Given the description of an element on the screen output the (x, y) to click on. 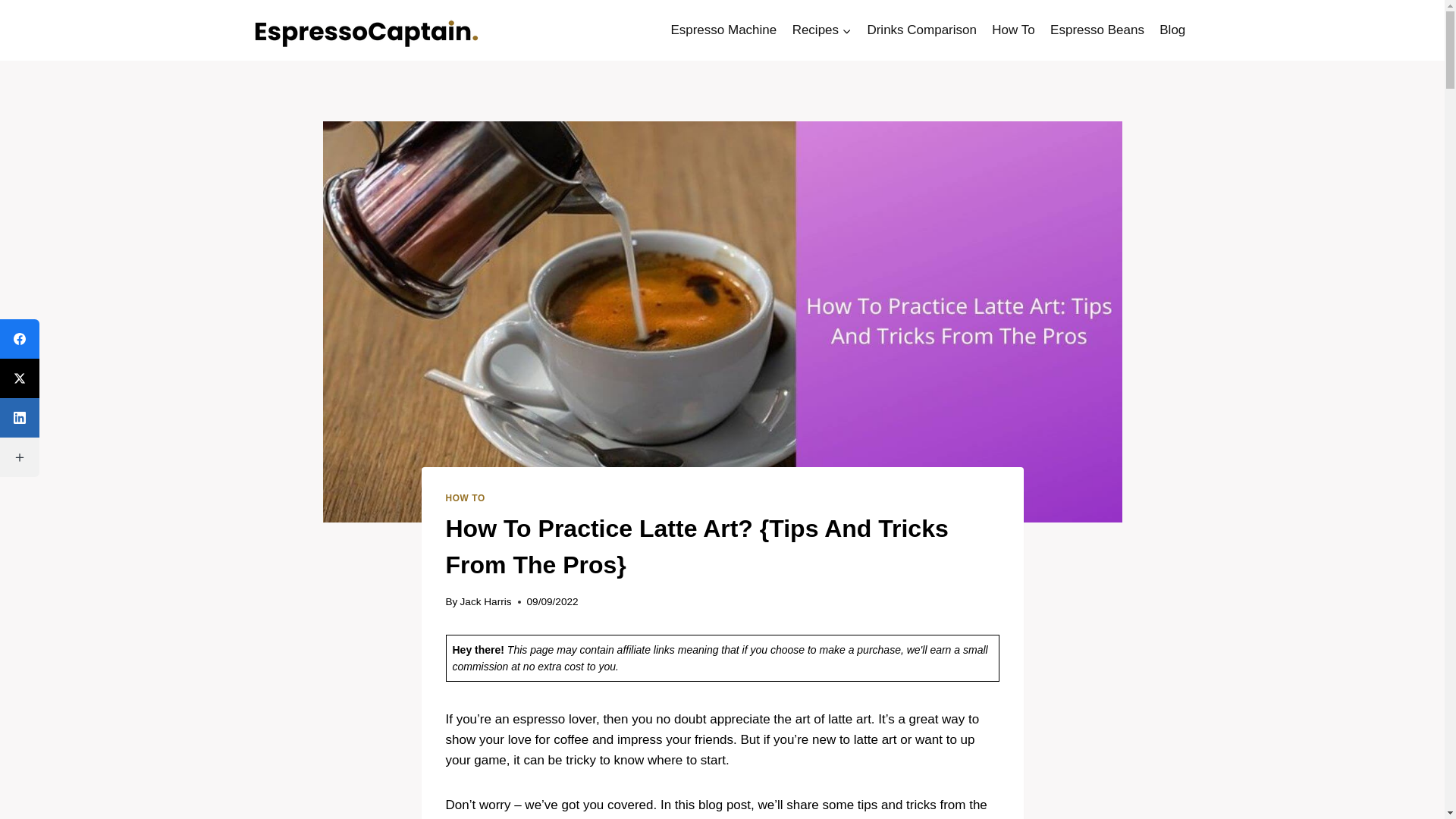
Jack Harris (486, 601)
Recipes (821, 30)
HOW TO (464, 498)
How To (1013, 30)
Drinks Comparison (921, 30)
Blog (1171, 30)
Espresso Machine (723, 30)
Espresso Beans (1096, 30)
